Given the description of an element on the screen output the (x, y) to click on. 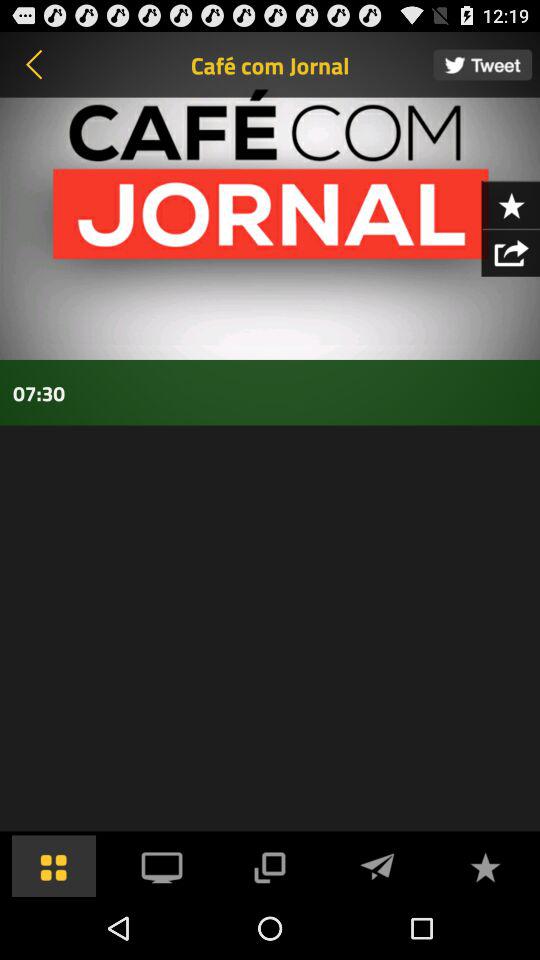
the menu bar (54, 865)
